Given the description of an element on the screen output the (x, y) to click on. 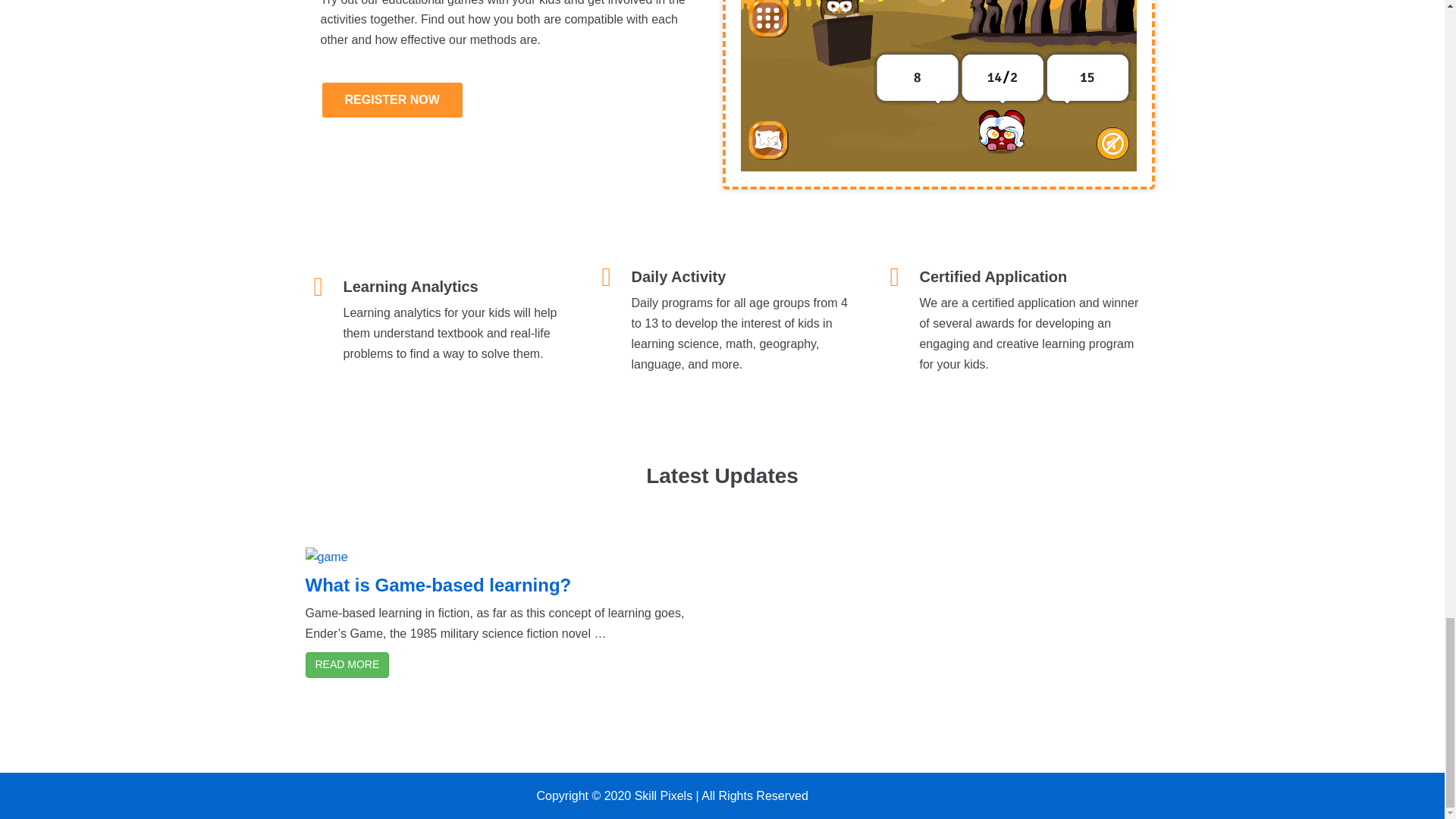
REGISTER NOW (391, 99)
READ MORE (346, 664)
What is Game-based learning? (437, 584)
